Given the description of an element on the screen output the (x, y) to click on. 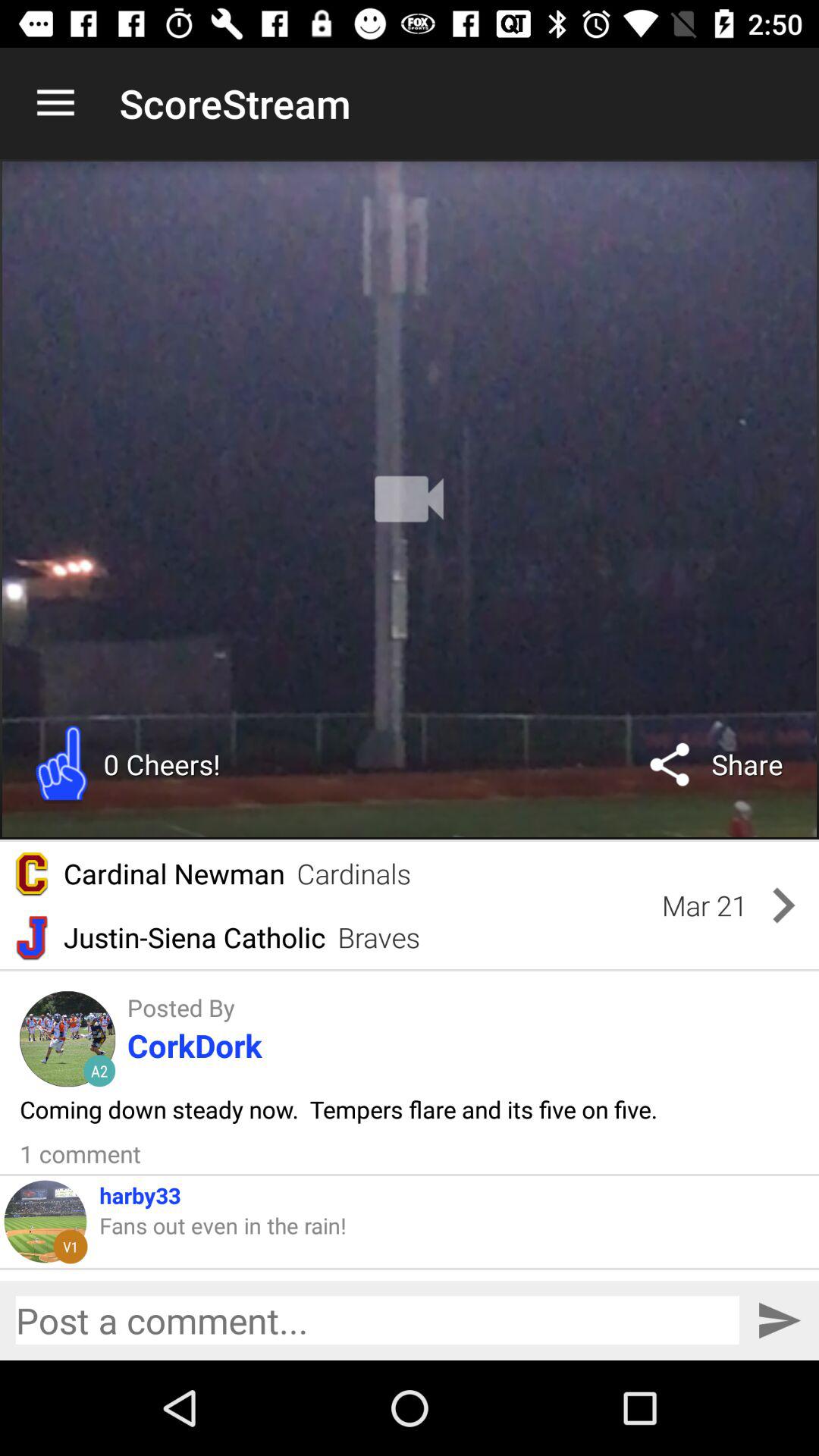
click on the send symbol beside comment text field at the bottom (779, 1320)
